Given the description of an element on the screen output the (x, y) to click on. 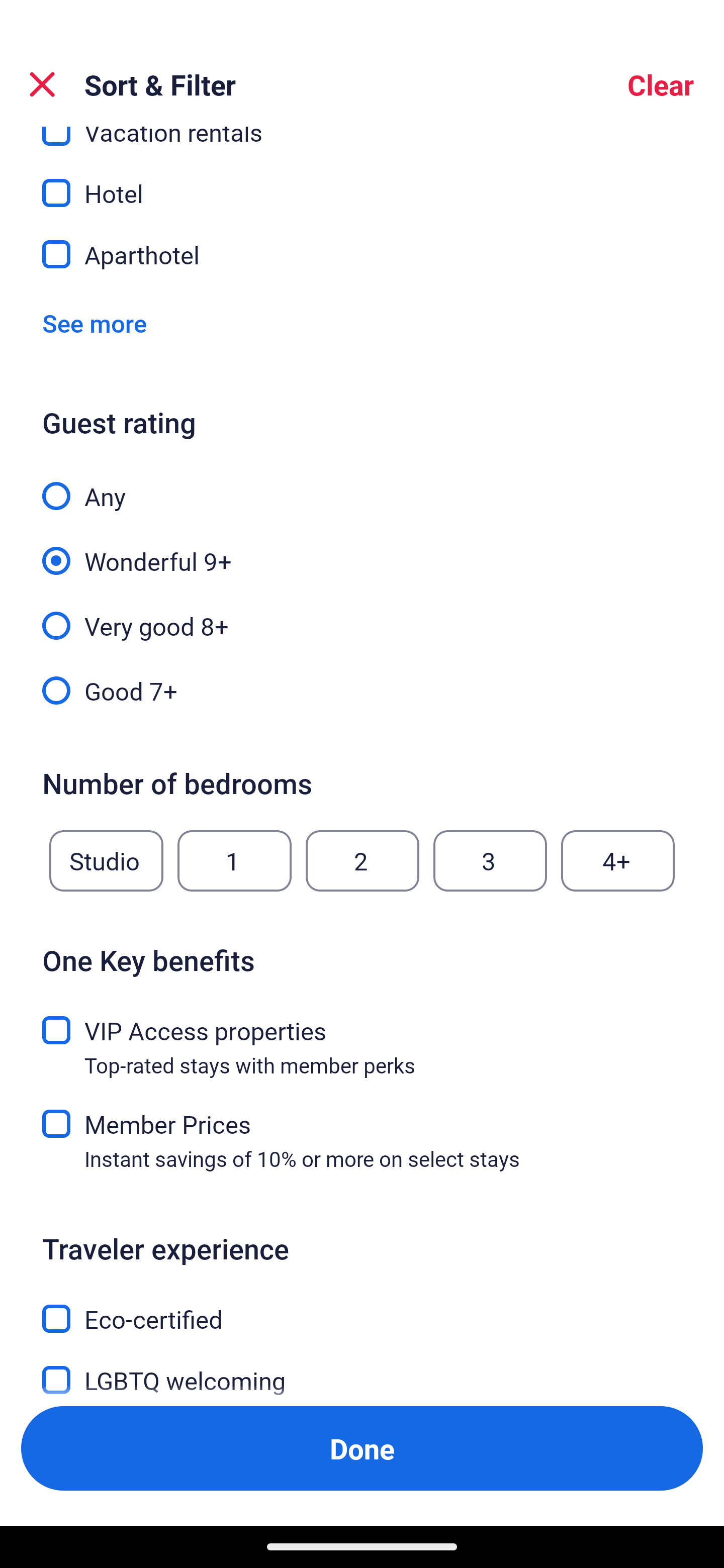
Close Sort and Filter (42, 84)
Clear (660, 84)
Hotel, Hotel (361, 181)
Aparthotel, Aparthotel (361, 254)
See more See more property types Link (93, 322)
Any (361, 485)
Very good 8+ (361, 614)
Good 7+ (361, 689)
Studio (106, 860)
1 (234, 860)
2 (362, 860)
3 (490, 860)
4+ (617, 860)
Eco-certified, Eco-certified (361, 1307)
LGBTQ welcoming, LGBTQ welcoming (361, 1369)
Apply and close Sort and Filter Done (361, 1448)
